Given the description of an element on the screen output the (x, y) to click on. 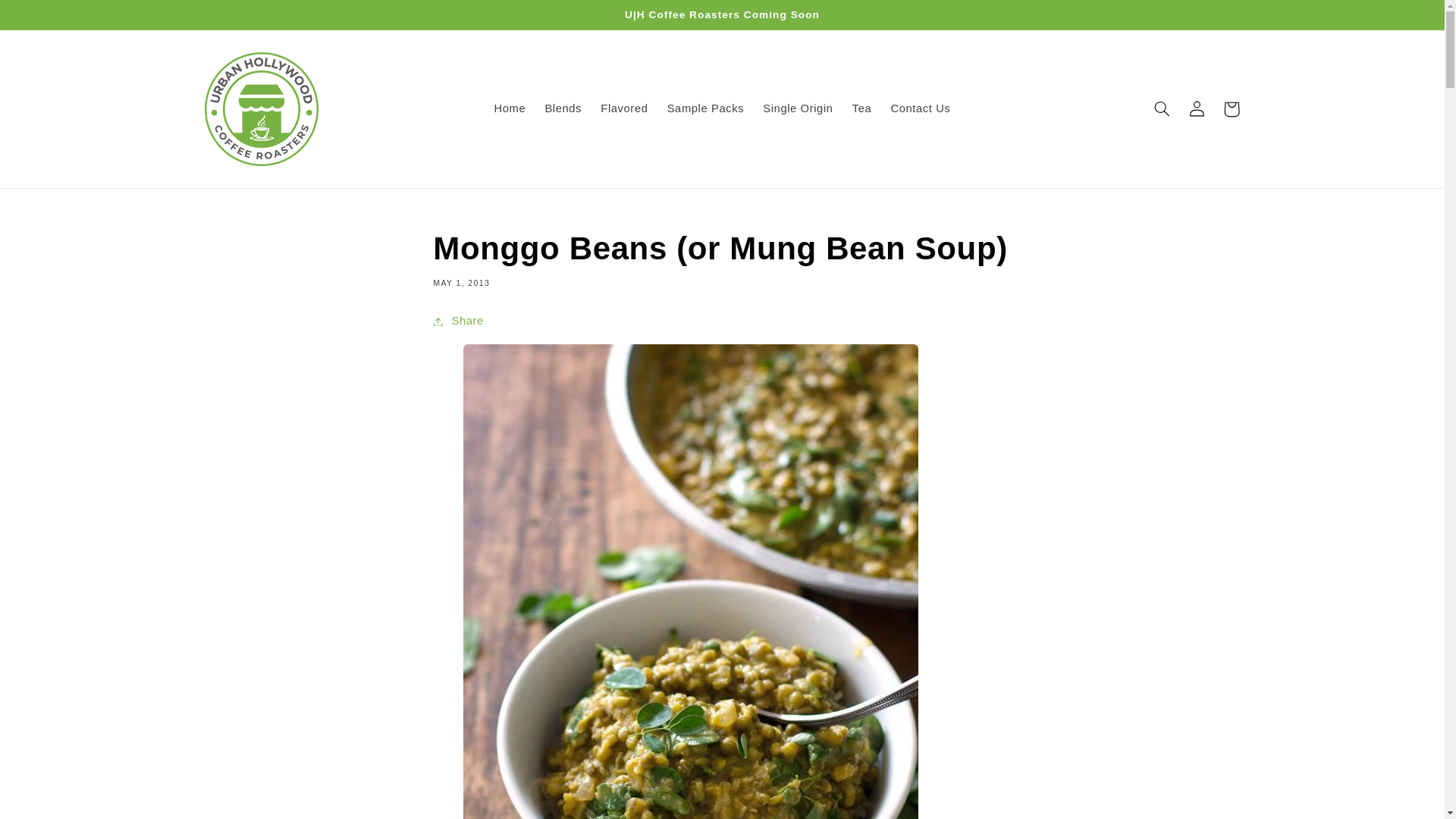
Single Origin (798, 109)
Tea (861, 109)
Sample Packs (706, 109)
Blends (563, 109)
Log in (1196, 108)
Home (509, 109)
Cart (1231, 108)
Contact Us (919, 109)
Flavored (624, 109)
Skip to content (47, 17)
